Given the description of an element on the screen output the (x, y) to click on. 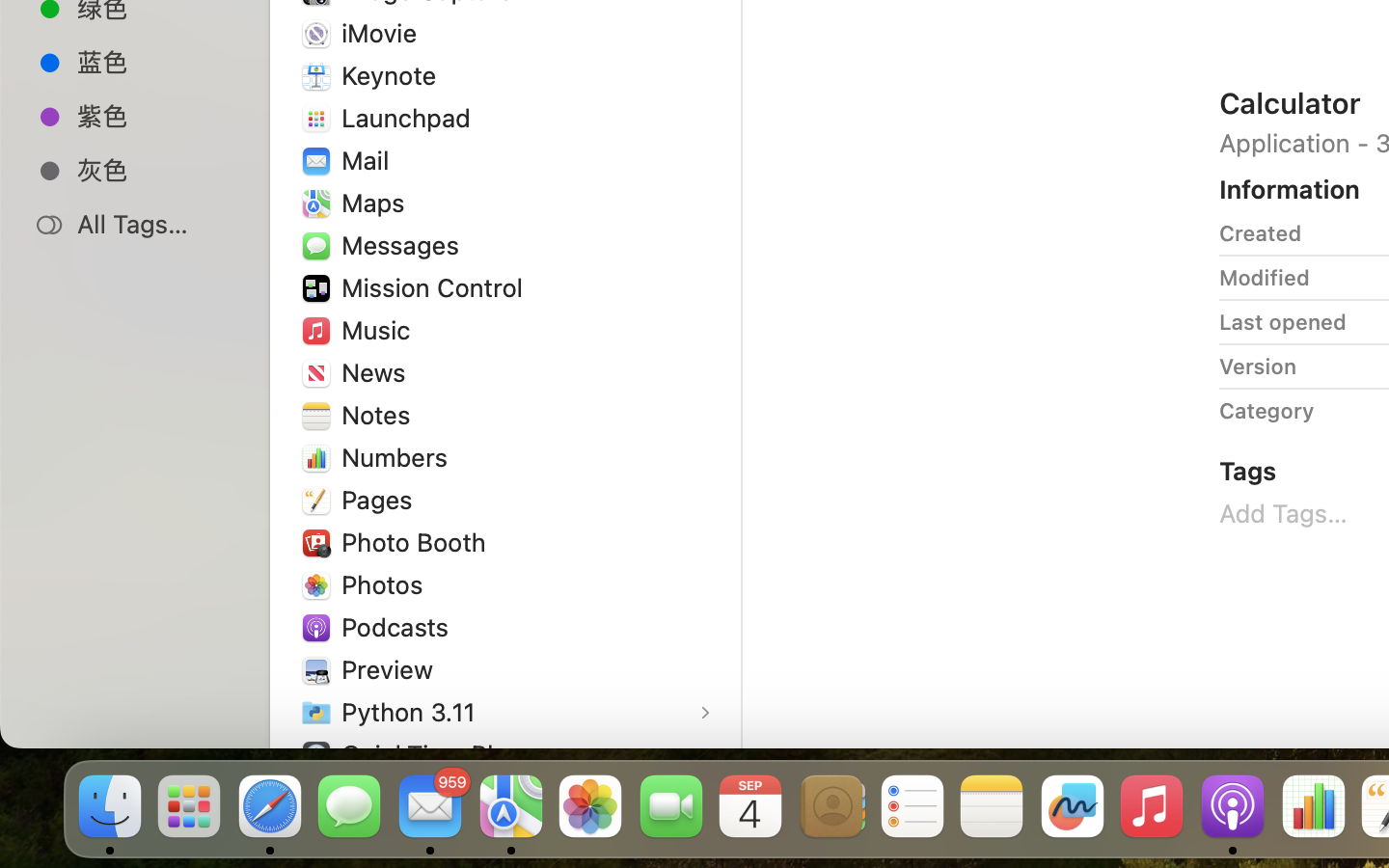
Podcasts Element type: AXTextField (399, 626)
紫色 Element type: AXStaticText (155, 115)
Created Element type: AXStaticText (1260, 232)
News Element type: AXTextField (377, 371)
Python 3.11 Element type: AXTextField (412, 711)
